Given the description of an element on the screen output the (x, y) to click on. 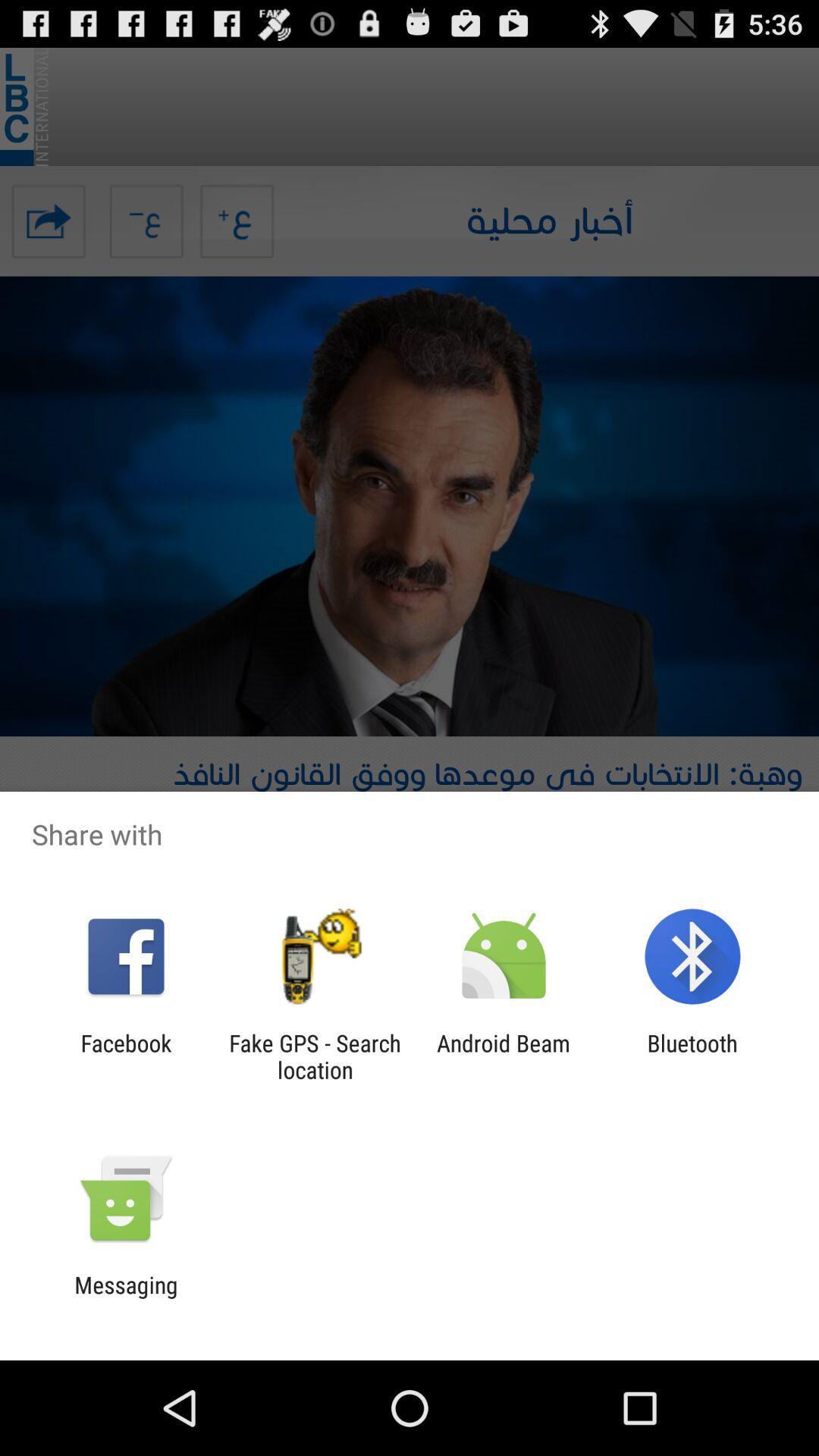
select item to the right of the android beam icon (692, 1056)
